Given the description of an element on the screen output the (x, y) to click on. 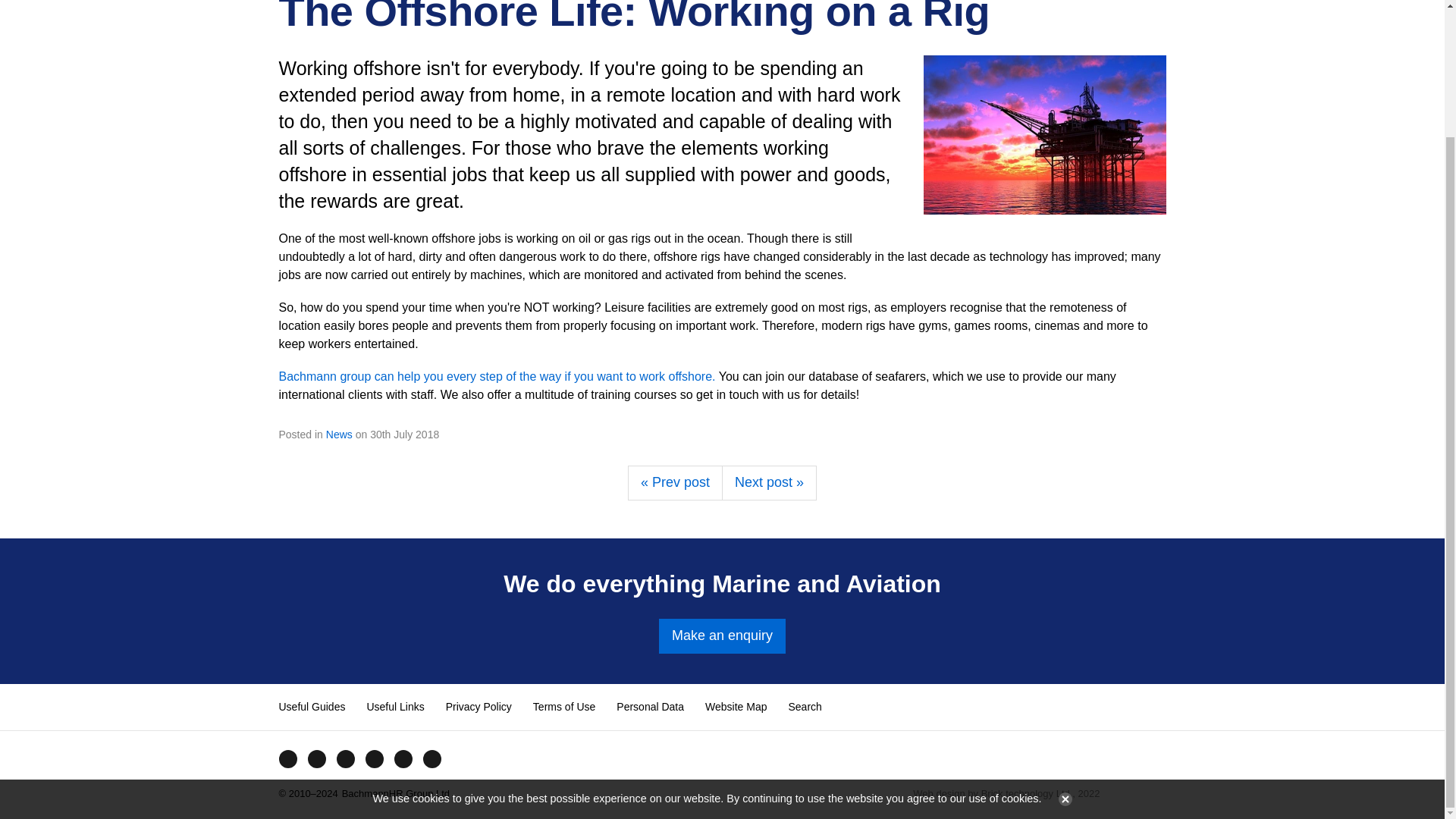
Continue (1061, 645)
YouTube (344, 758)
Newsletter (430, 758)
Instagram (373, 758)
Facebook (287, 758)
Twitter (315, 758)
LinkedIn (402, 758)
